Given the description of an element on the screen output the (x, y) to click on. 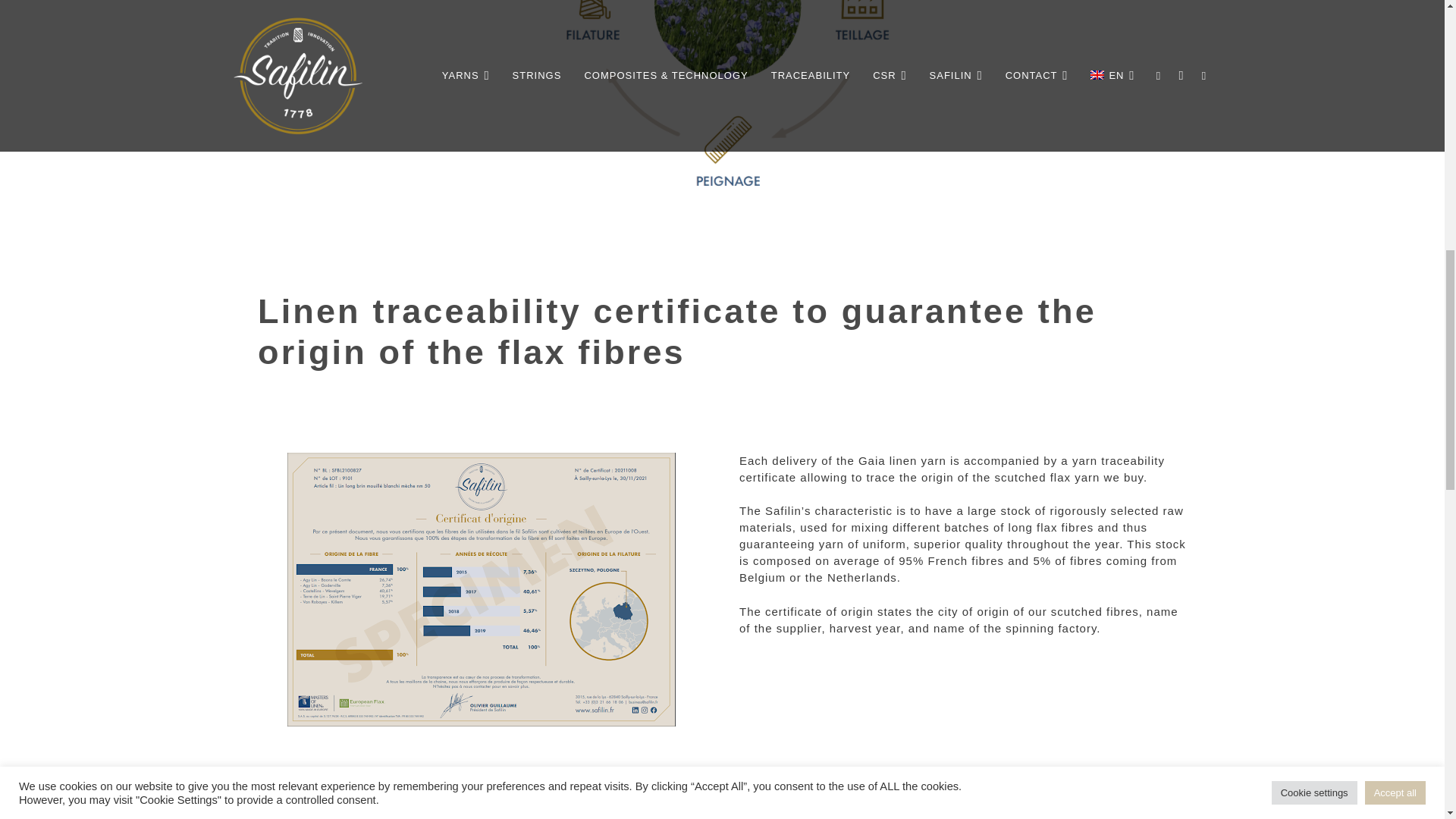
Back to top (1413, 26)
